Given the description of an element on the screen output the (x, y) to click on. 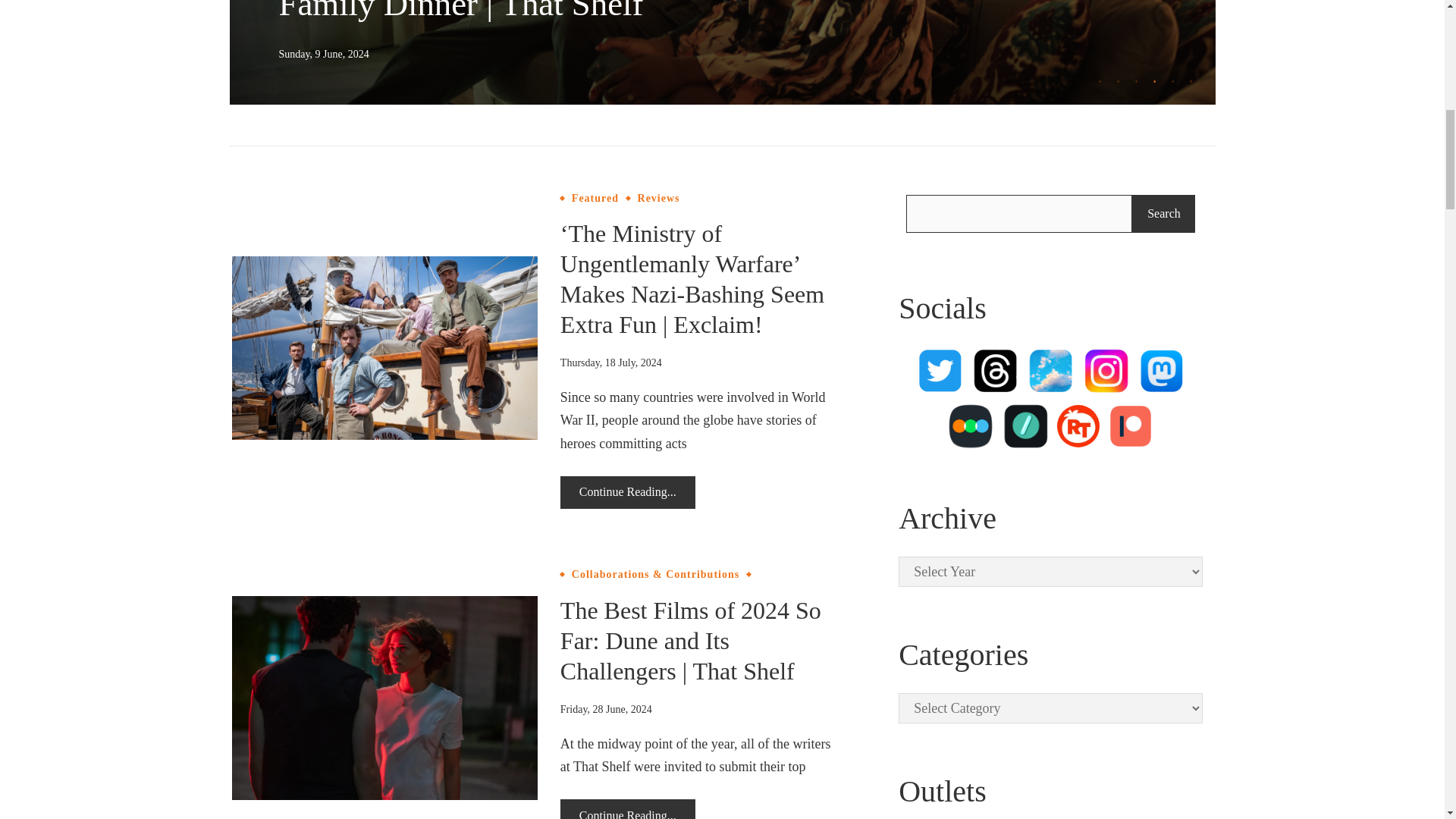
Scroll back to top (482, 27)
